Given the description of an element on the screen output the (x, y) to click on. 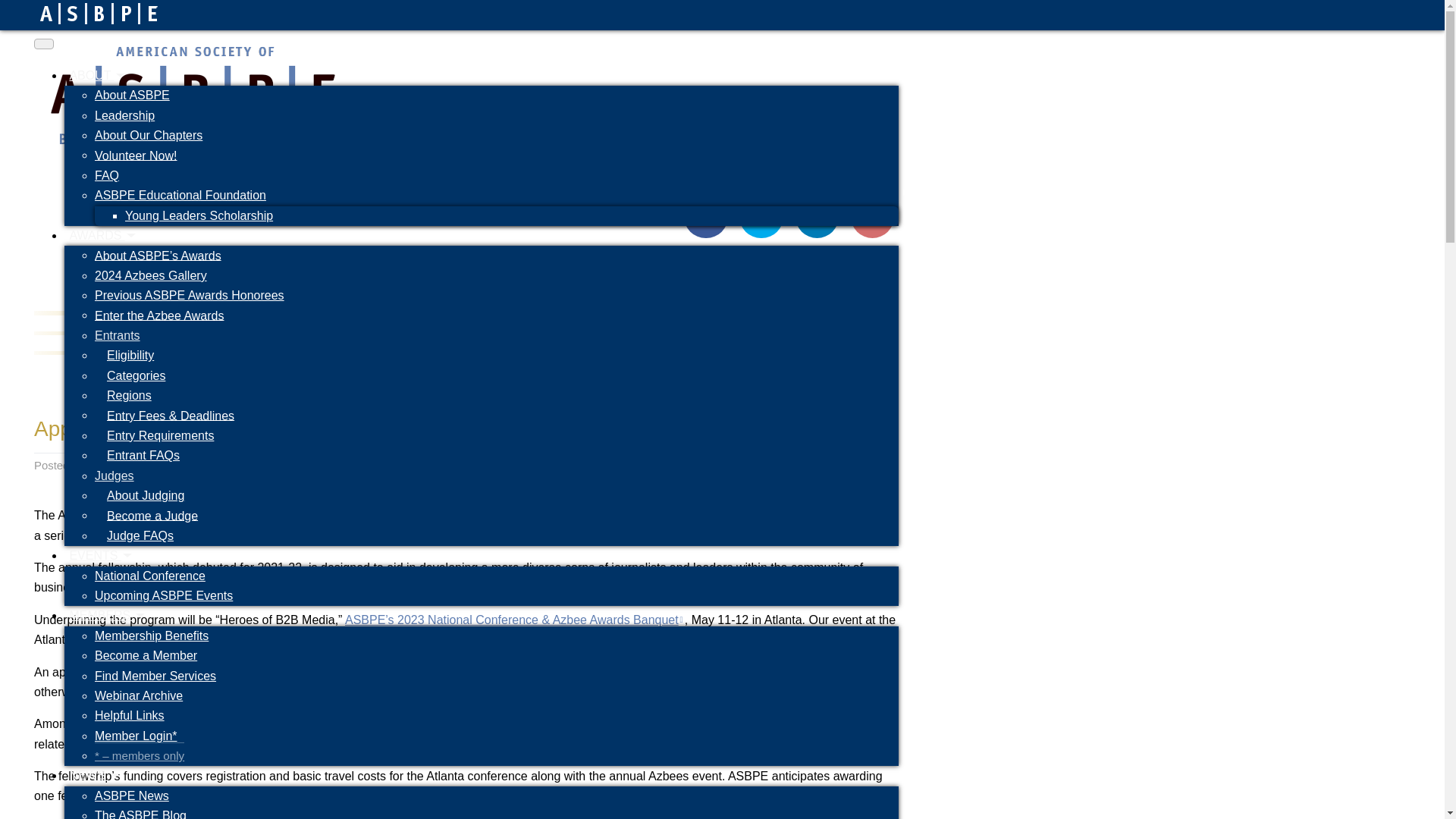
2024 Azbees Gallery (150, 275)
ABOUT (96, 75)
Categories (135, 375)
ASBPE Educational Foundation (180, 195)
National Conference (149, 575)
Find Member Services (154, 675)
Become a Judge (152, 516)
Search for: (654, 216)
Volunteer Now! (135, 155)
AWARDS (102, 235)
Webinar Archive (138, 695)
Eligibility (130, 354)
FAQ (106, 175)
Judge FAQs (139, 535)
